Given the description of an element on the screen output the (x, y) to click on. 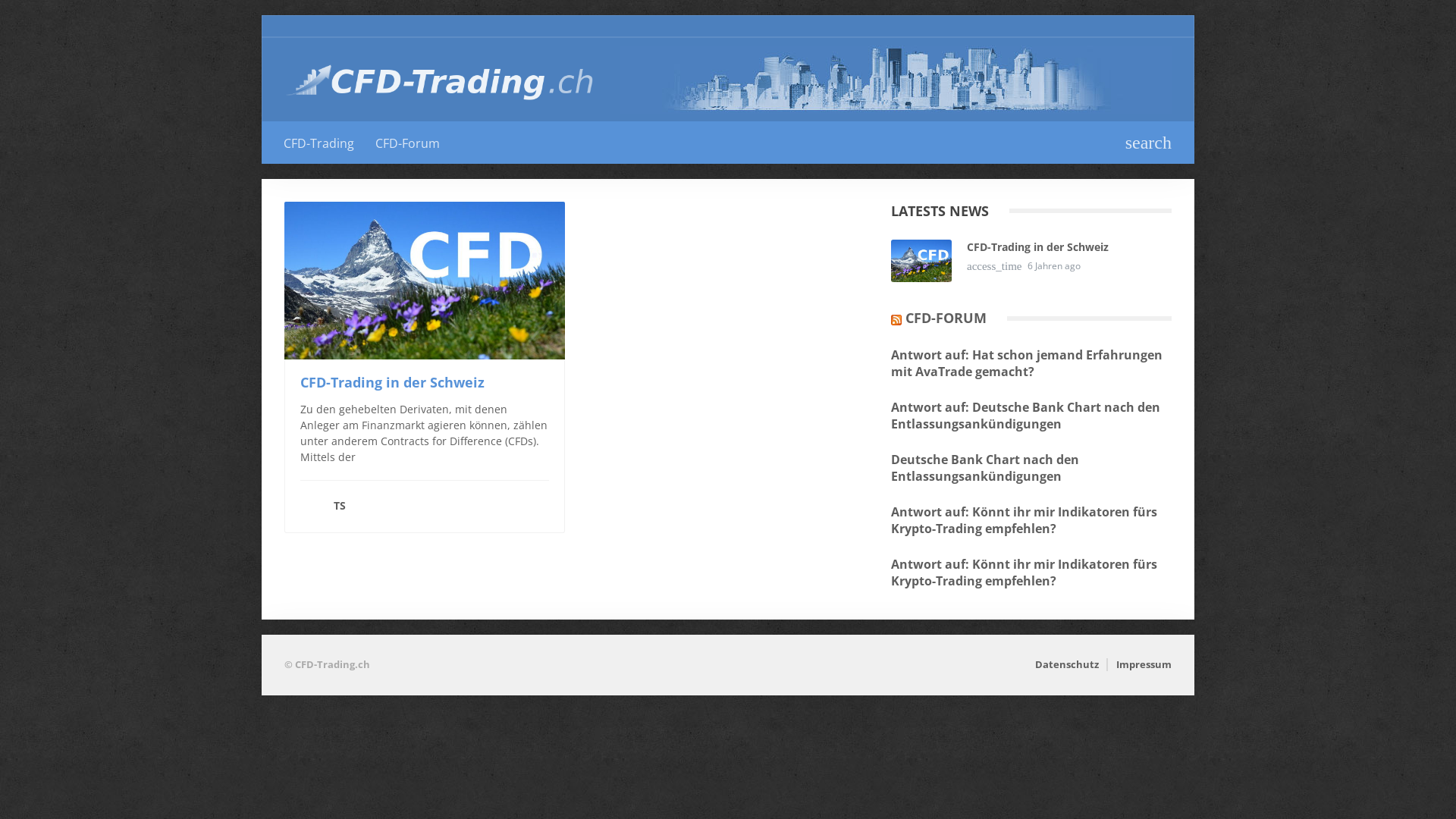
CFD-Trading Element type: text (318, 142)
CFD-Trading in der Schweiz Element type: text (392, 382)
CFD-Trading in der Schweiz Element type: text (1037, 246)
Impressum Element type: text (1143, 664)
CFD-FORUM Element type: text (945, 317)
TS Element type: text (424, 498)
Datenschutz Element type: text (1066, 664)
CFD-Forum Element type: text (407, 142)
search Element type: text (1148, 140)
CFD Header Element type: hover (895, 79)
